Given the description of an element on the screen output the (x, y) to click on. 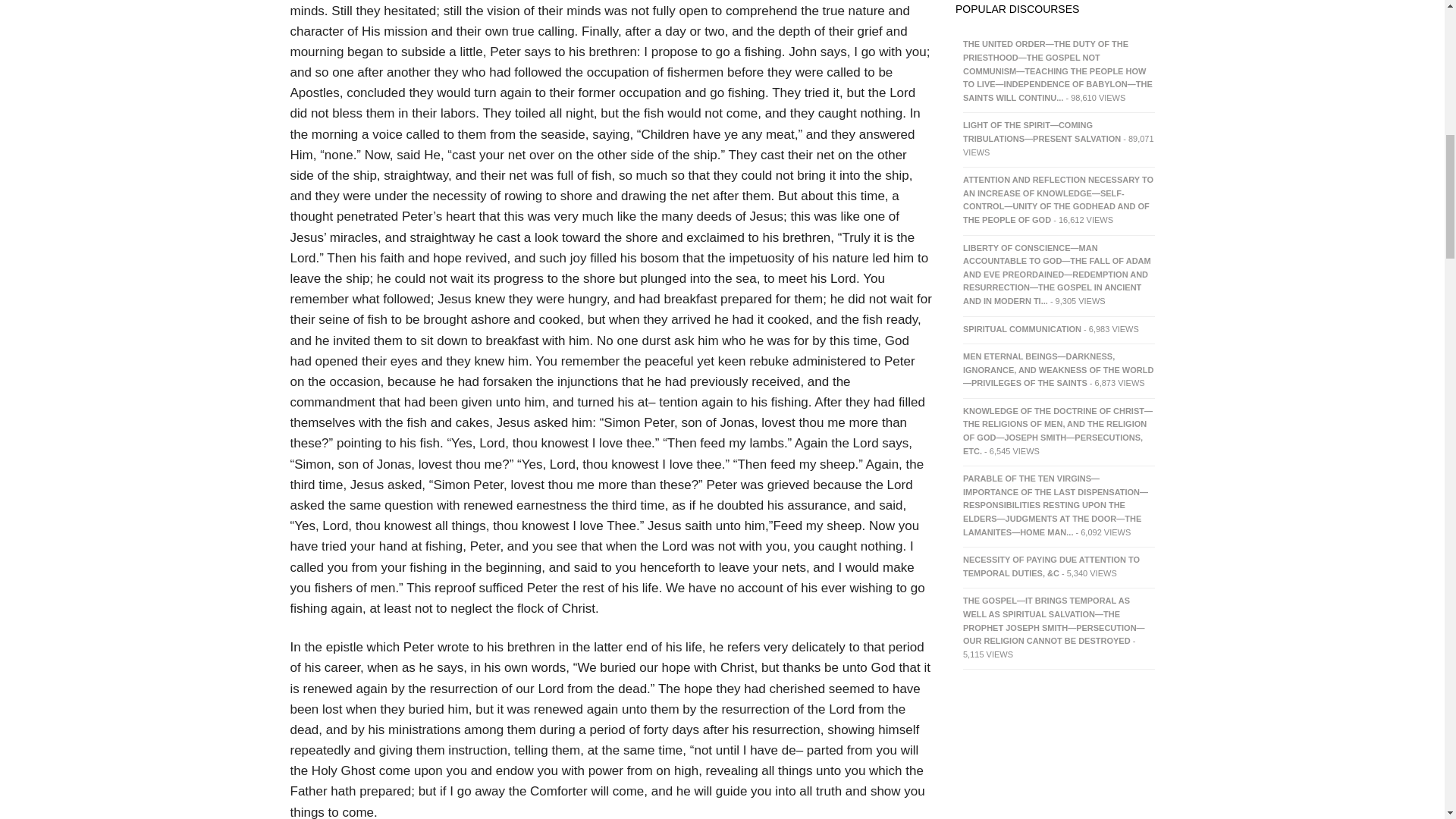
Spiritual Communication (1021, 328)
